Given the description of an element on the screen output the (x, y) to click on. 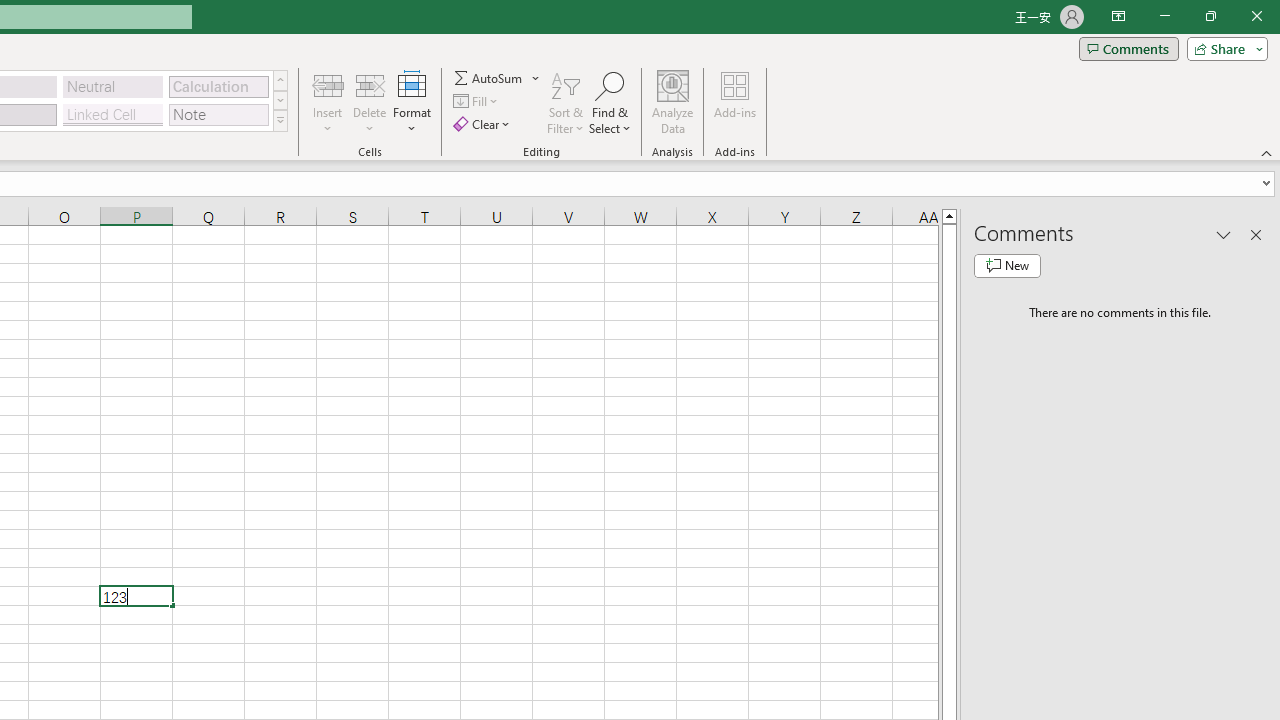
Comments (1128, 48)
Clear (483, 124)
Cell Styles (280, 120)
Calculation (218, 86)
Row Down (280, 100)
Fill (477, 101)
Analyze Data (673, 102)
Edit Cell (136, 596)
Ribbon Display Options (1118, 16)
Sum (489, 78)
Line up (948, 215)
Row up (280, 79)
Note (218, 114)
